Given the description of an element on the screen output the (x, y) to click on. 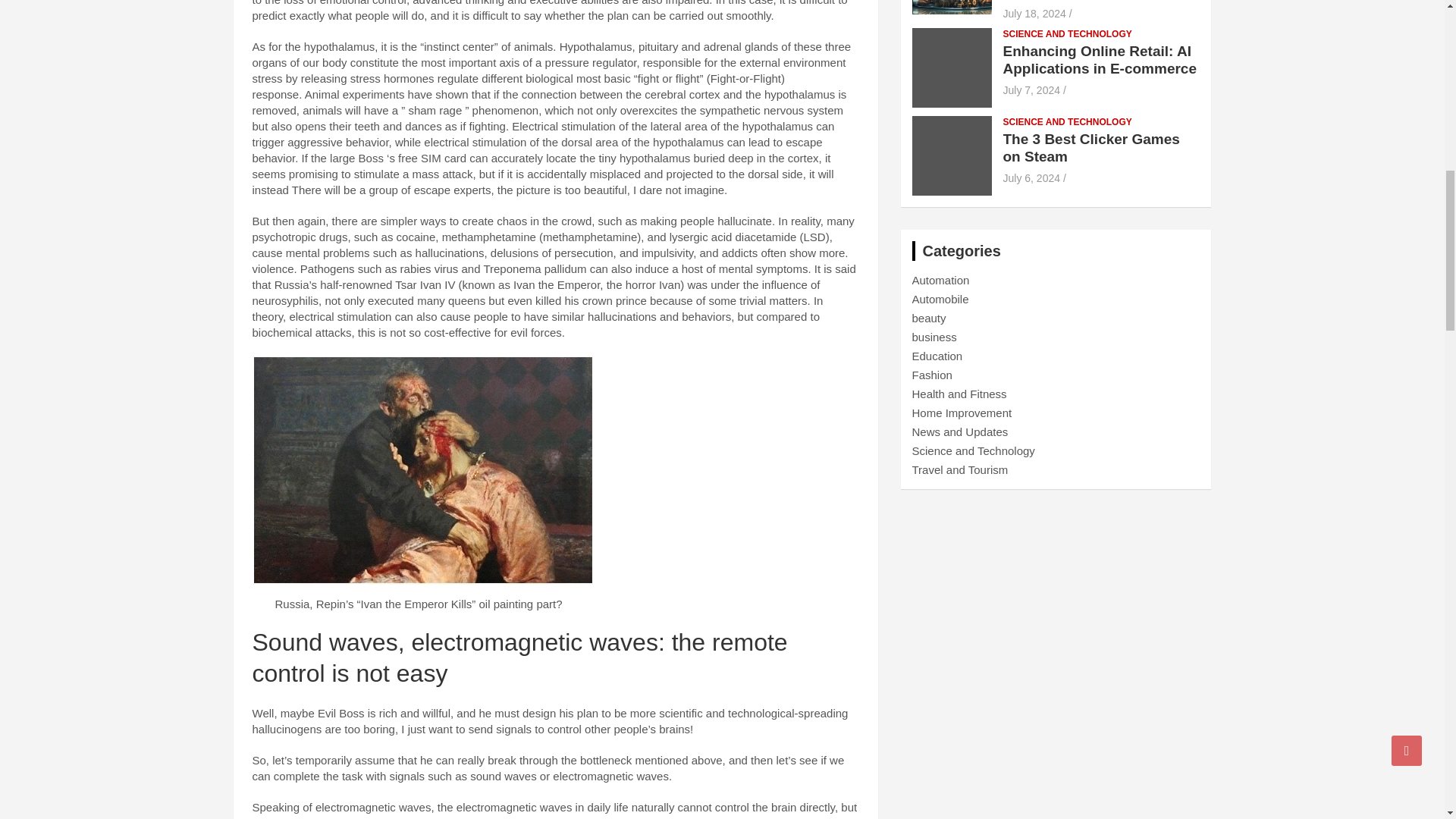
Enhancing Online Retail: AI Applications in E-commerce (1031, 90)
July 18, 2024 (1034, 13)
The 3 Best Clicker Games on Steam (1031, 177)
